Given the description of an element on the screen output the (x, y) to click on. 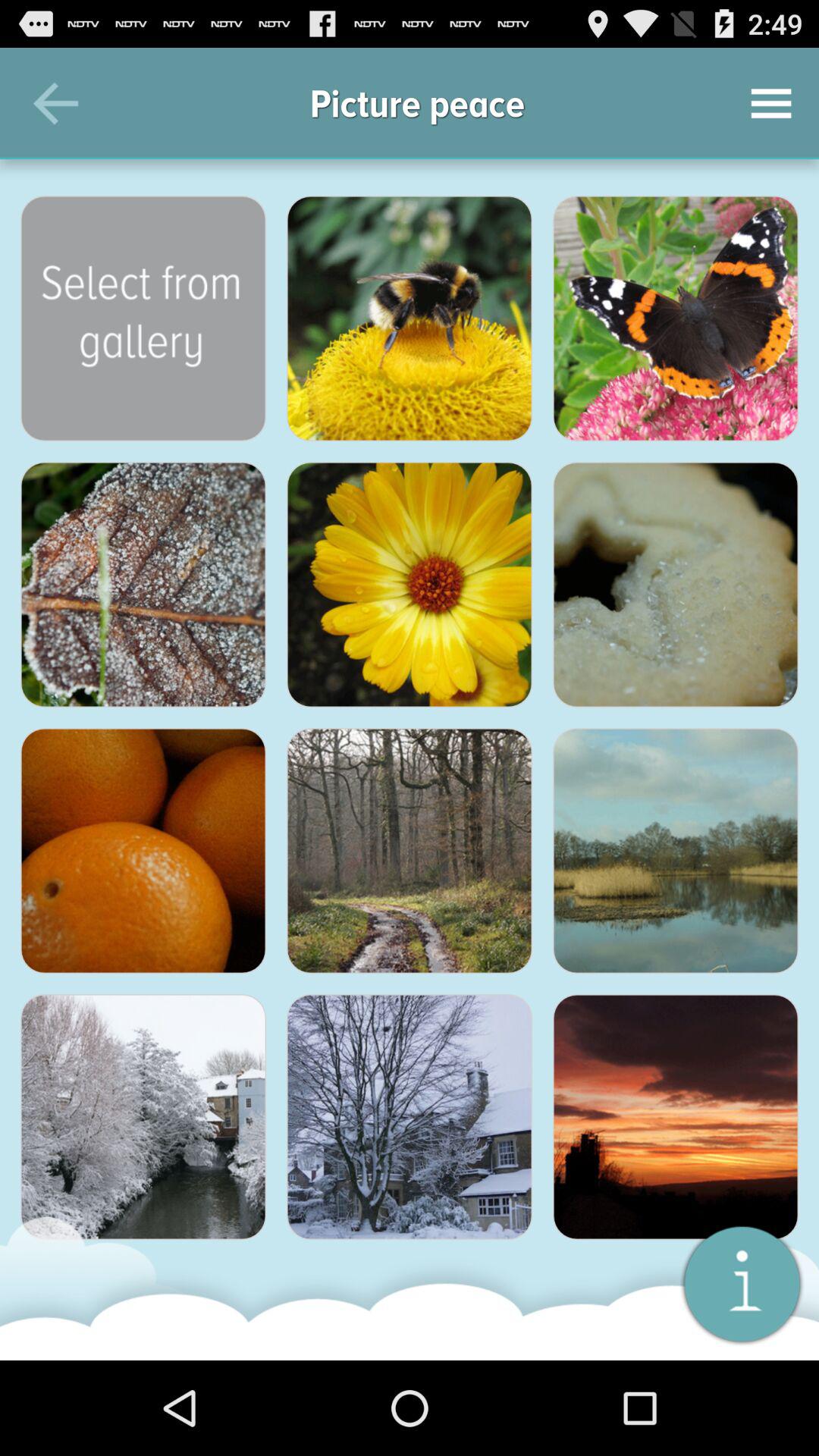
tap icon at the bottom (409, 1116)
